Given the description of an element on the screen output the (x, y) to click on. 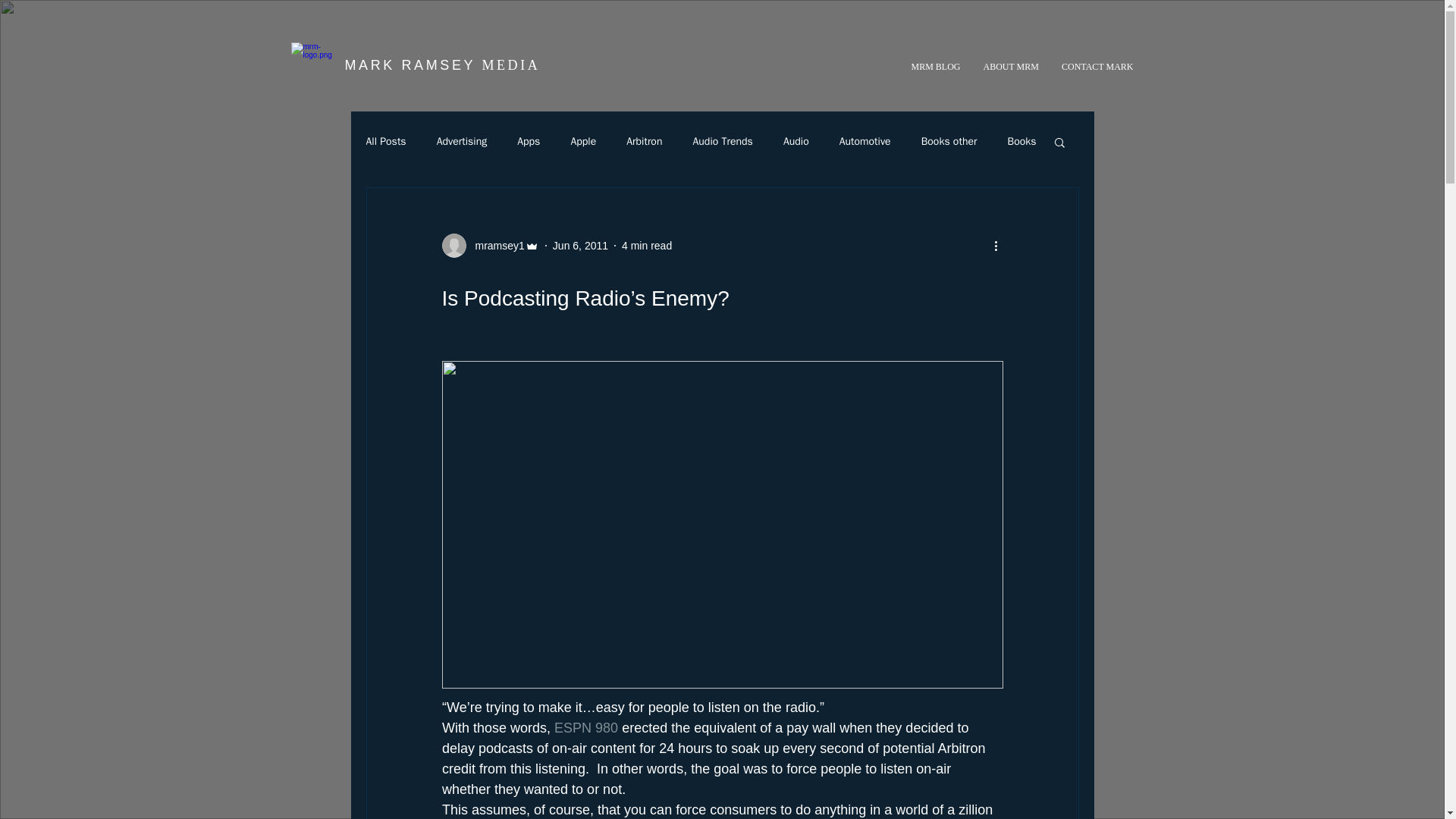
4 min read (646, 245)
MARK RAMSEY MEDIA (441, 64)
Automotive (865, 141)
Books other (948, 141)
Apple (582, 141)
Apps (528, 141)
Audio Trends (722, 141)
ESPN 980 (585, 727)
Advertising (461, 141)
mramsey1 (489, 245)
